Given the description of an element on the screen output the (x, y) to click on. 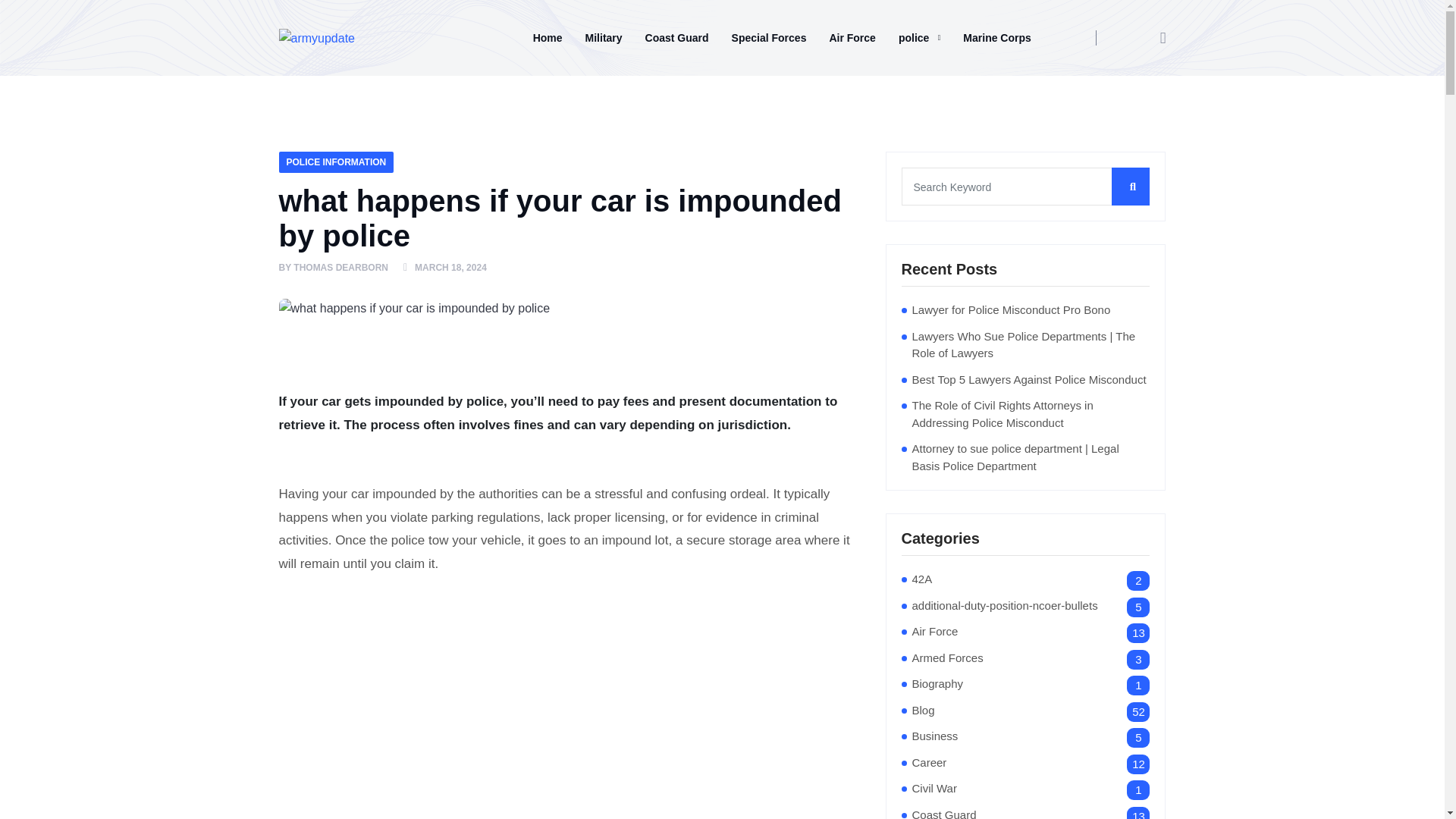
police (919, 37)
42A (921, 579)
Best Top 5 Lawyers Against Police Misconduct (1028, 380)
Air Force (934, 631)
POLICE INFORMATION (336, 161)
Armed Forces (946, 657)
Civil War (933, 788)
Career (928, 762)
Marine Corps (997, 37)
Blog (922, 710)
Business (934, 736)
additional-duty-position-ncoer-bullets (1004, 606)
THOMAS DEARBORN (341, 268)
Special Forces (769, 37)
